Given the description of an element on the screen output the (x, y) to click on. 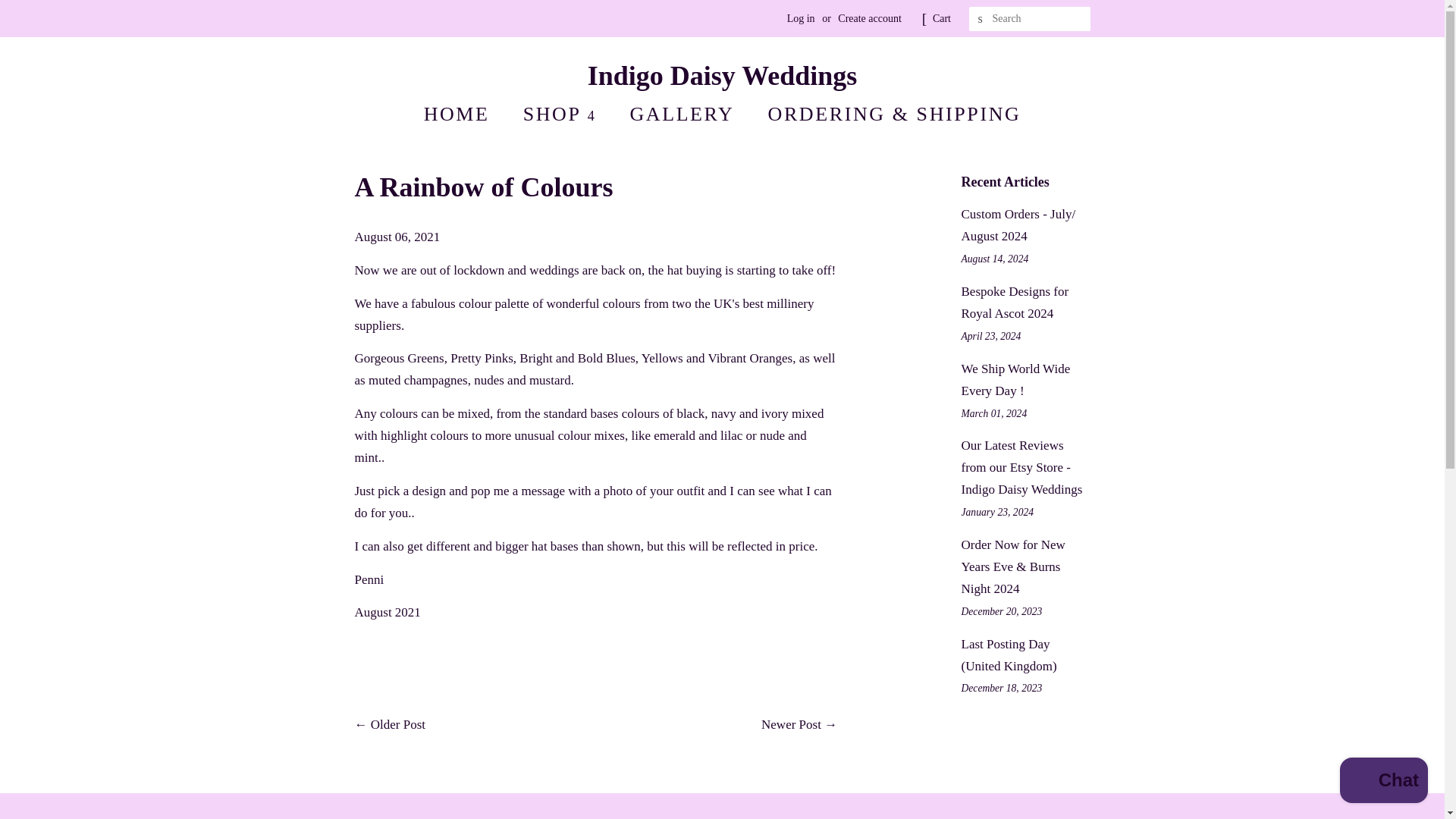
Cart (941, 18)
SEARCH (980, 18)
Shopify online store chat (1383, 781)
Log in (801, 18)
Create account (869, 18)
